Given the description of an element on the screen output the (x, y) to click on. 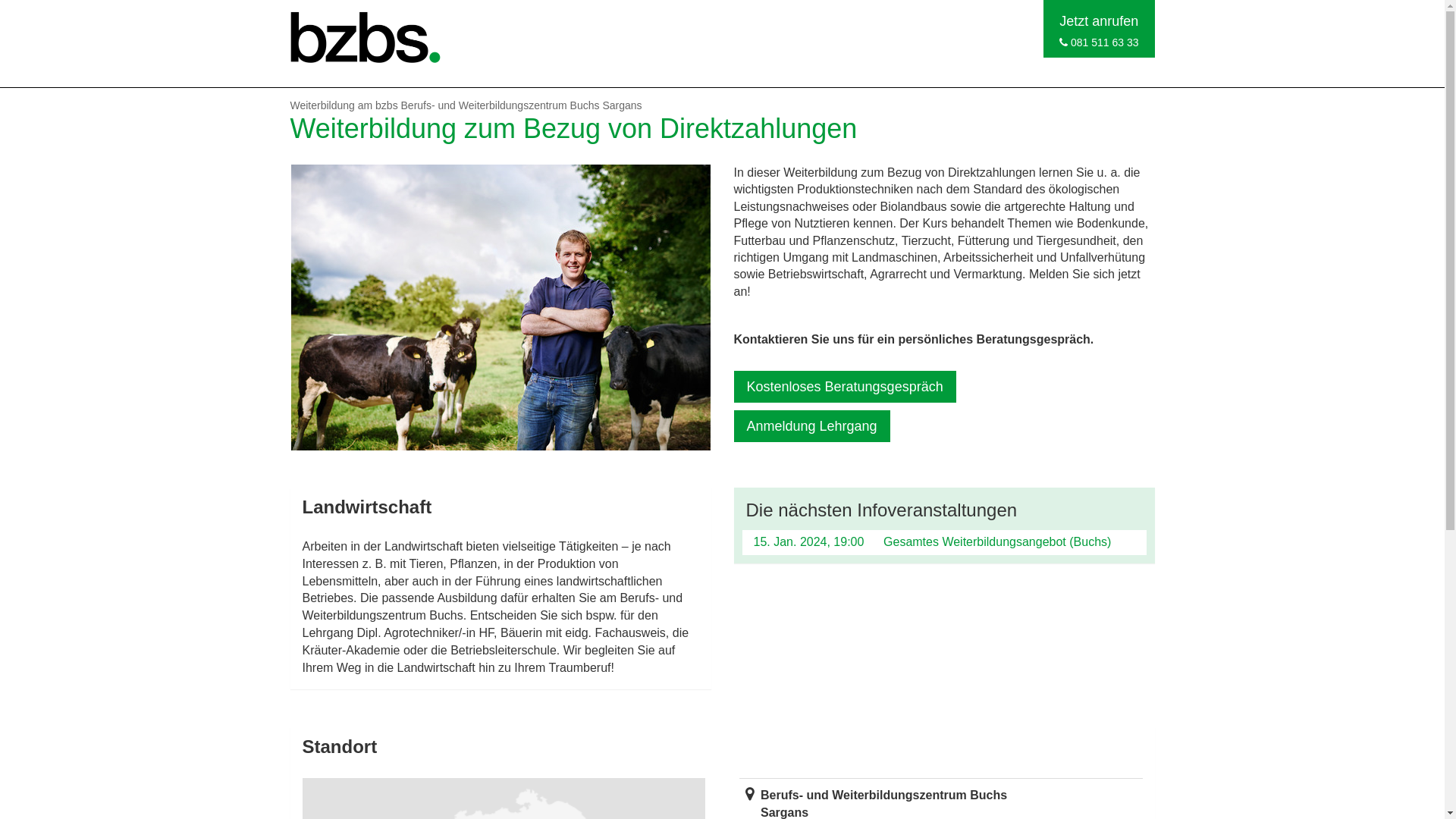
Jetzt anrufen
081 511 63 33 Element type: text (1098, 28)
15. Jan. 2024, 19:00 Element type: text (808, 541)
Anmeldung Lehrgang Element type: text (812, 426)
Gesamtes Weiterbildungsangebot (Buchs) Element type: text (996, 541)
